Given the description of an element on the screen output the (x, y) to click on. 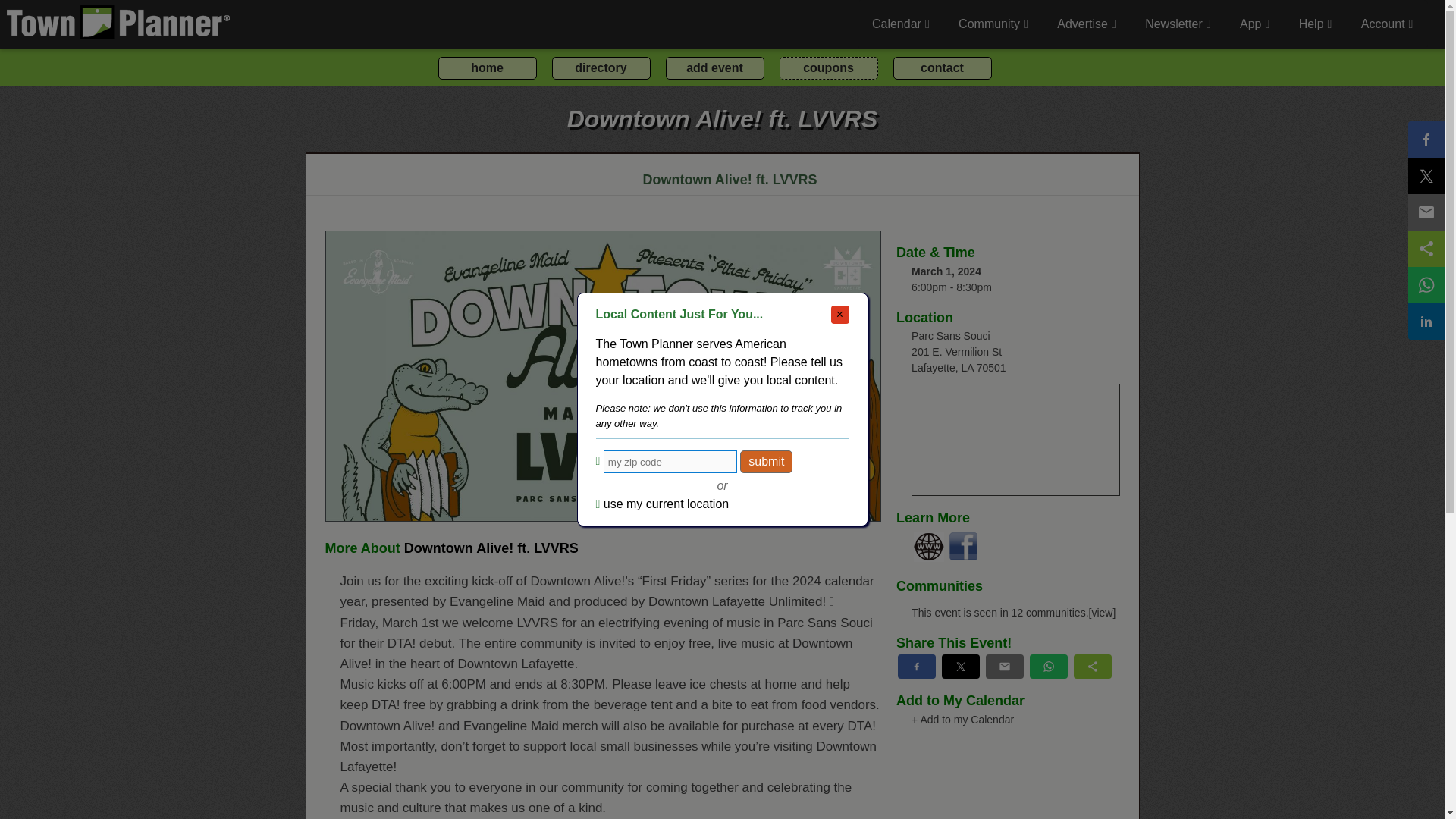
Account (1386, 24)
Newsletter (1177, 24)
Calendar (900, 24)
directory (600, 67)
Community (992, 24)
directory (600, 67)
contact (942, 67)
home (487, 67)
home (487, 67)
add event (714, 67)
